Given the description of an element on the screen output the (x, y) to click on. 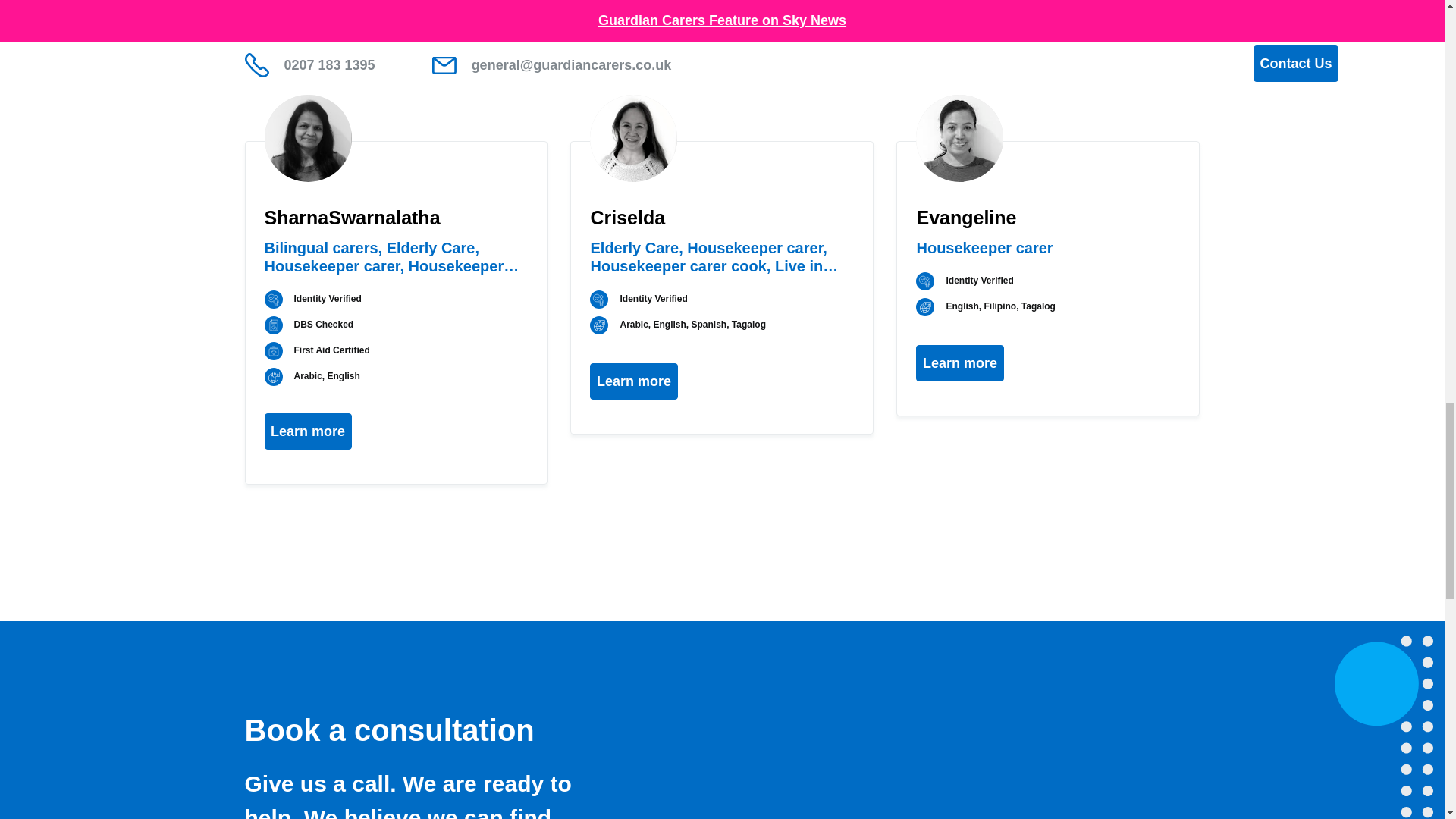
Evangeline (959, 138)
SharnaSwarnalatha (306, 138)
Criselda (633, 138)
